Given the description of an element on the screen output the (x, y) to click on. 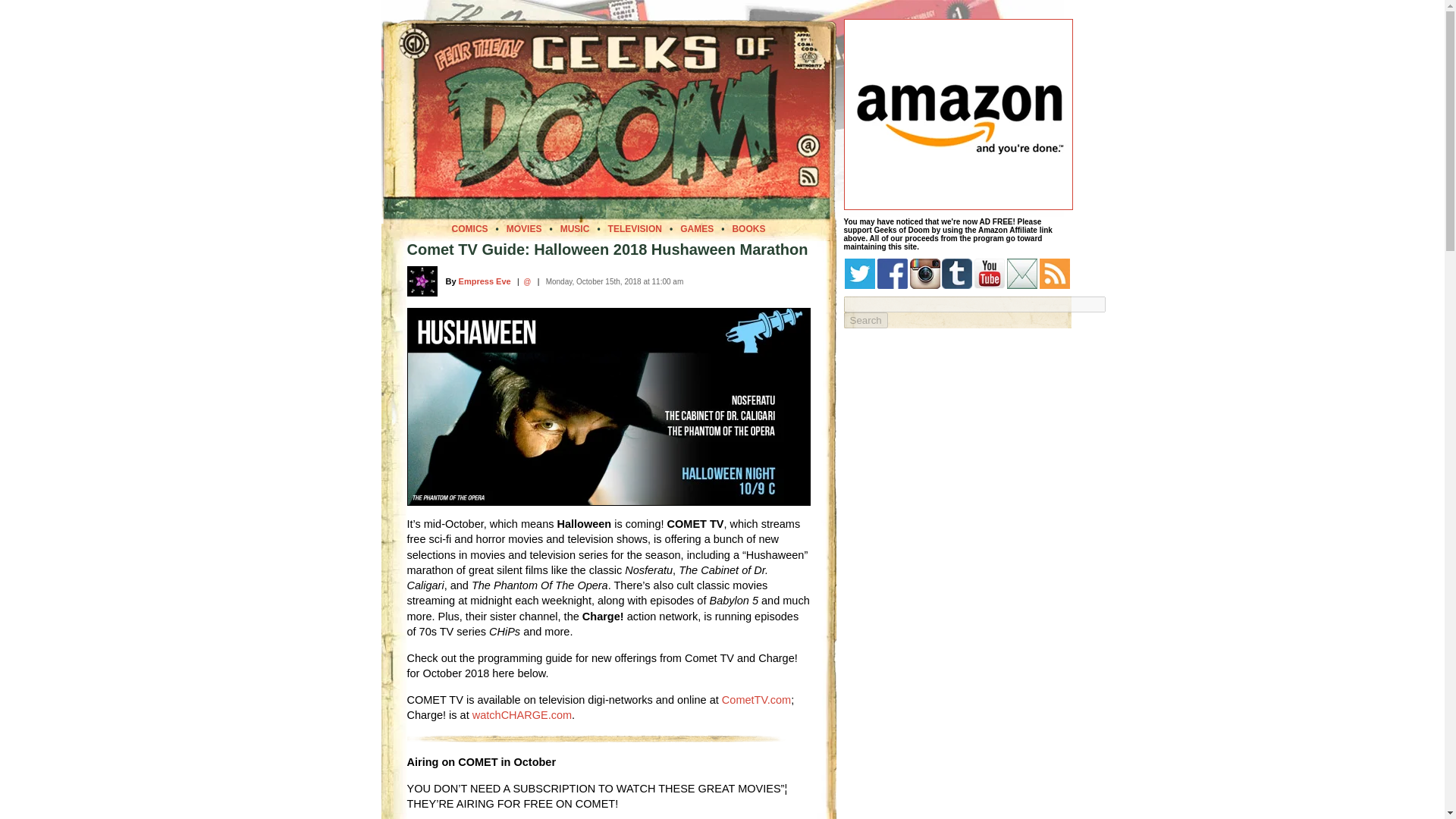
Search (864, 320)
MUSIC (574, 228)
Follow Geeks of Doom on Facebook (892, 273)
Follow Geeks of Doom on Tumblr (957, 273)
GAMES (696, 228)
MOVIES (523, 228)
Follow Empress Eve on Twitter (526, 281)
Comet TV Halloween 2018 Hushaween Marathon (607, 406)
Empress Eve (484, 280)
BOOKS (748, 228)
